Given the description of an element on the screen output the (x, y) to click on. 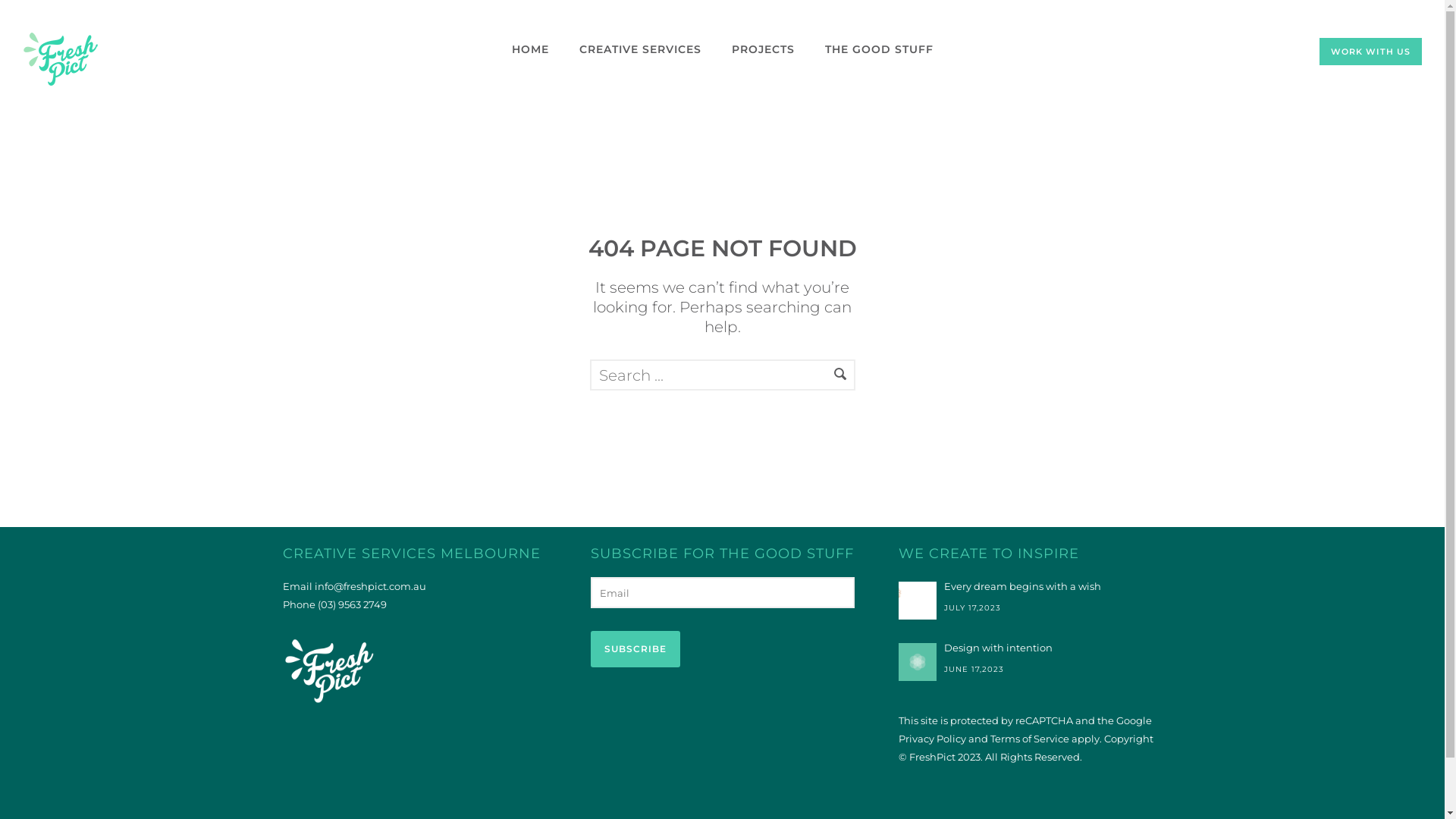
Every dream begins with a wish Element type: text (1029, 586)
PROJECTS Element type: text (762, 49)
Design with intention Element type: hover (916, 661)
HOME Element type: text (529, 49)
THE GOOD STUFF Element type: text (878, 49)
CREATIVE SERVICES Element type: text (640, 49)
WORK WITH US Element type: text (1370, 51)
Design with intention Element type: text (1029, 647)
Every dream begins with a wish Element type: hover (916, 600)
Subscribe Element type: text (634, 648)
